Given the description of an element on the screen output the (x, y) to click on. 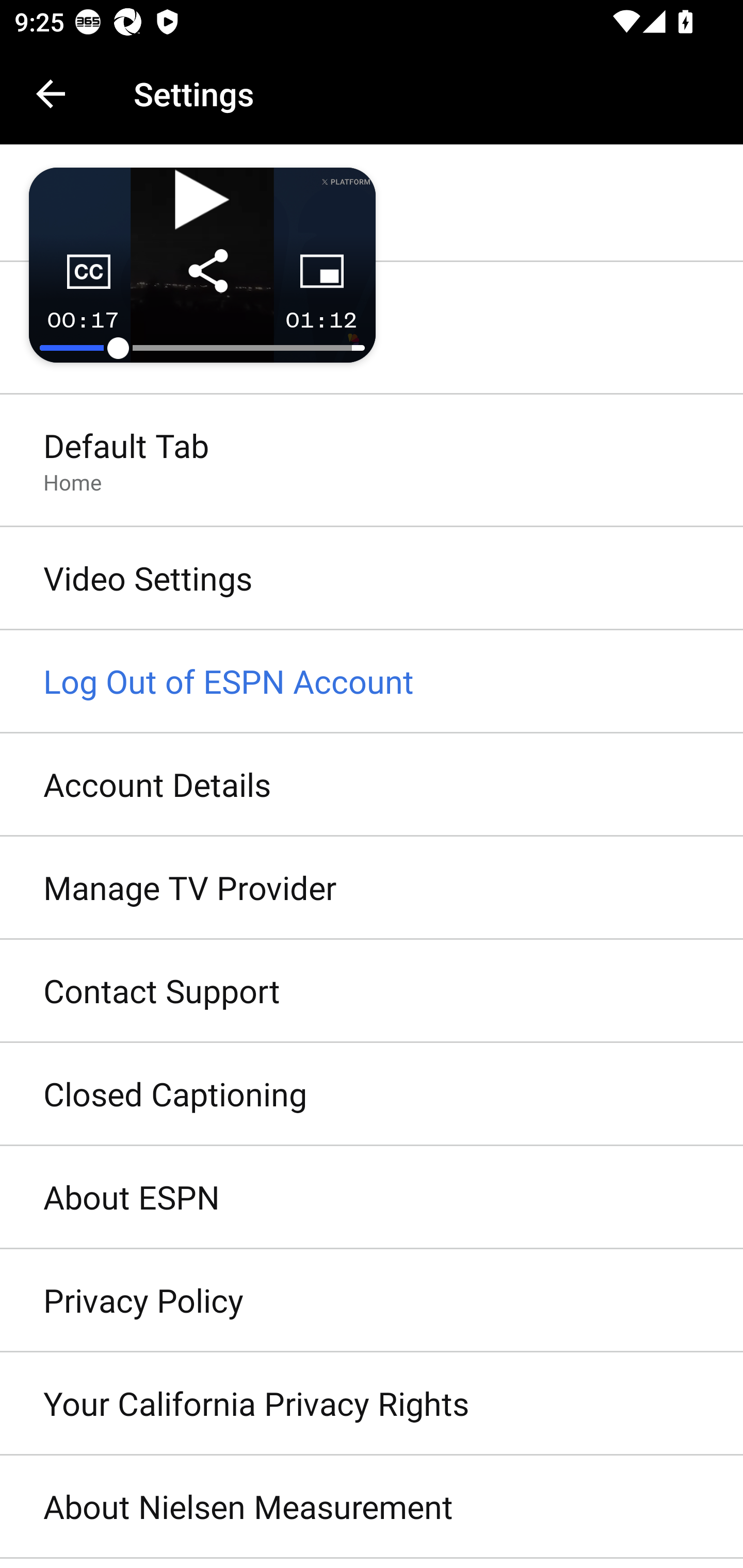
Navigate up (50, 93)
Default Tab Home (371, 461)
Video Settings (371, 578)
Log Out of ESPN Account (371, 681)
Account Details (371, 785)
Manage TV Provider (371, 888)
Contact Support (371, 990)
Closed Captioning (371, 1094)
About ESPN (371, 1197)
Privacy Policy (371, 1301)
Your California Privacy Rights (371, 1403)
About Nielsen Measurement (371, 1506)
